Given the description of an element on the screen output the (x, y) to click on. 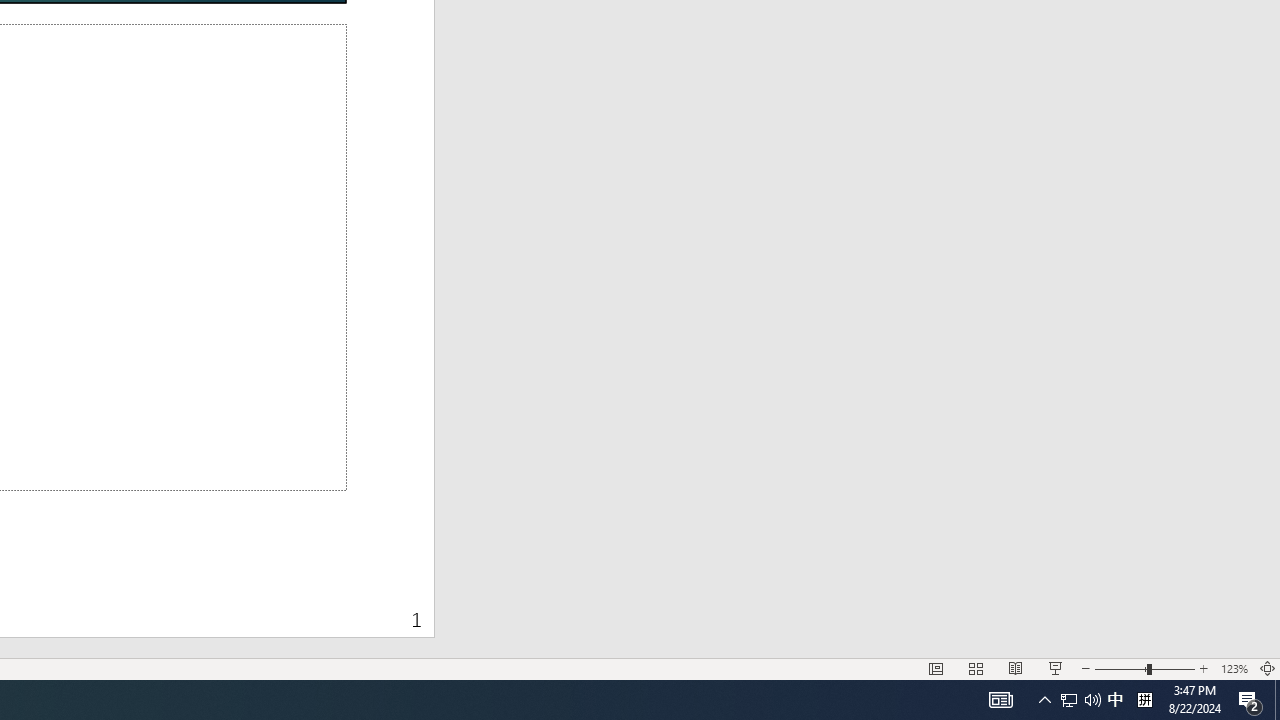
Normal (936, 668)
Reading View (1015, 668)
Zoom (1144, 668)
Zoom 123% (1234, 668)
Slide Show (1055, 668)
Slide Sorter (975, 668)
Page Number (241, 607)
Zoom In (1204, 668)
Zoom to Fit  (1267, 668)
Zoom Out (1120, 668)
